Given the description of an element on the screen output the (x, y) to click on. 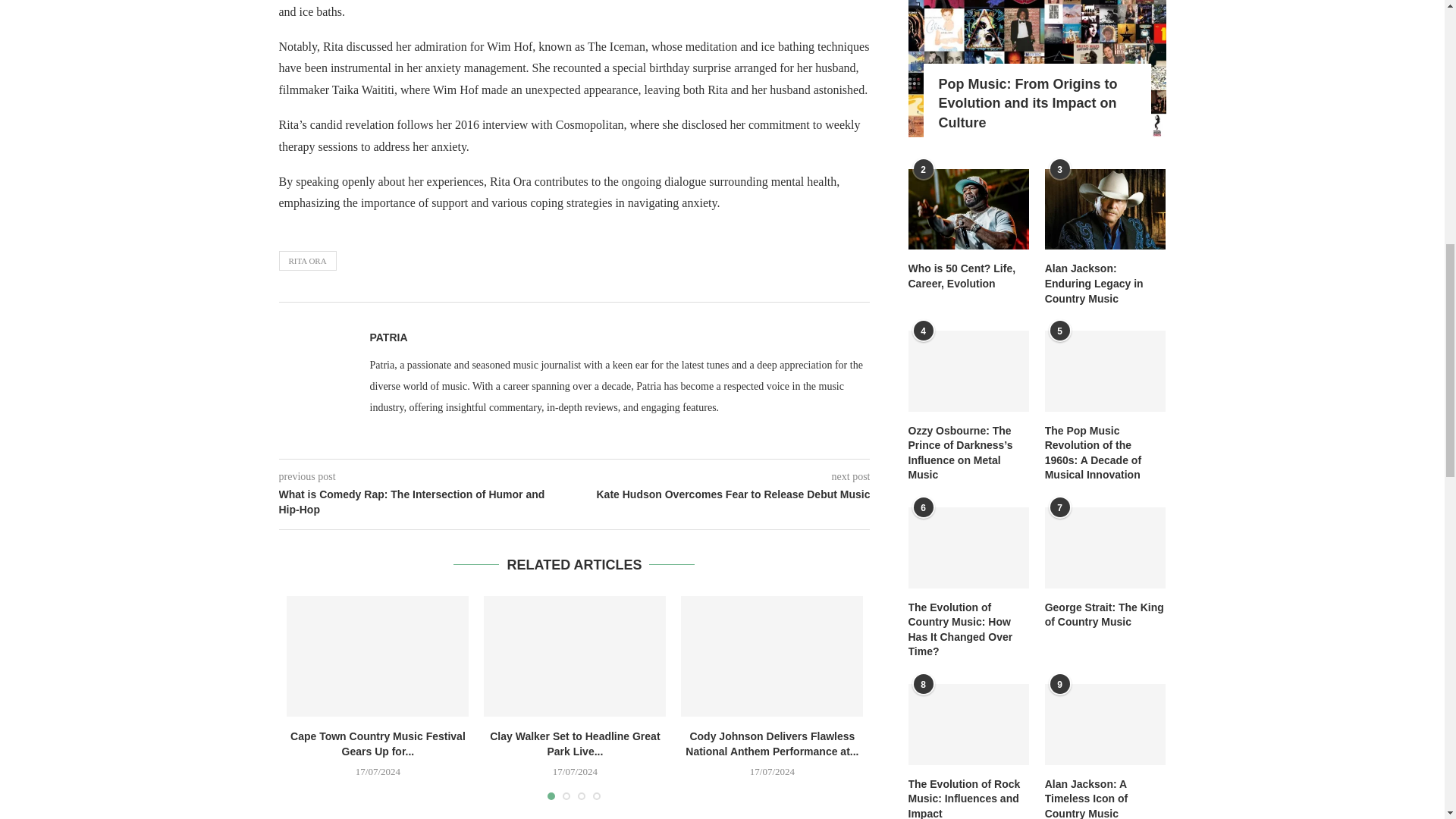
Author Patria (388, 337)
